Given the description of an element on the screen output the (x, y) to click on. 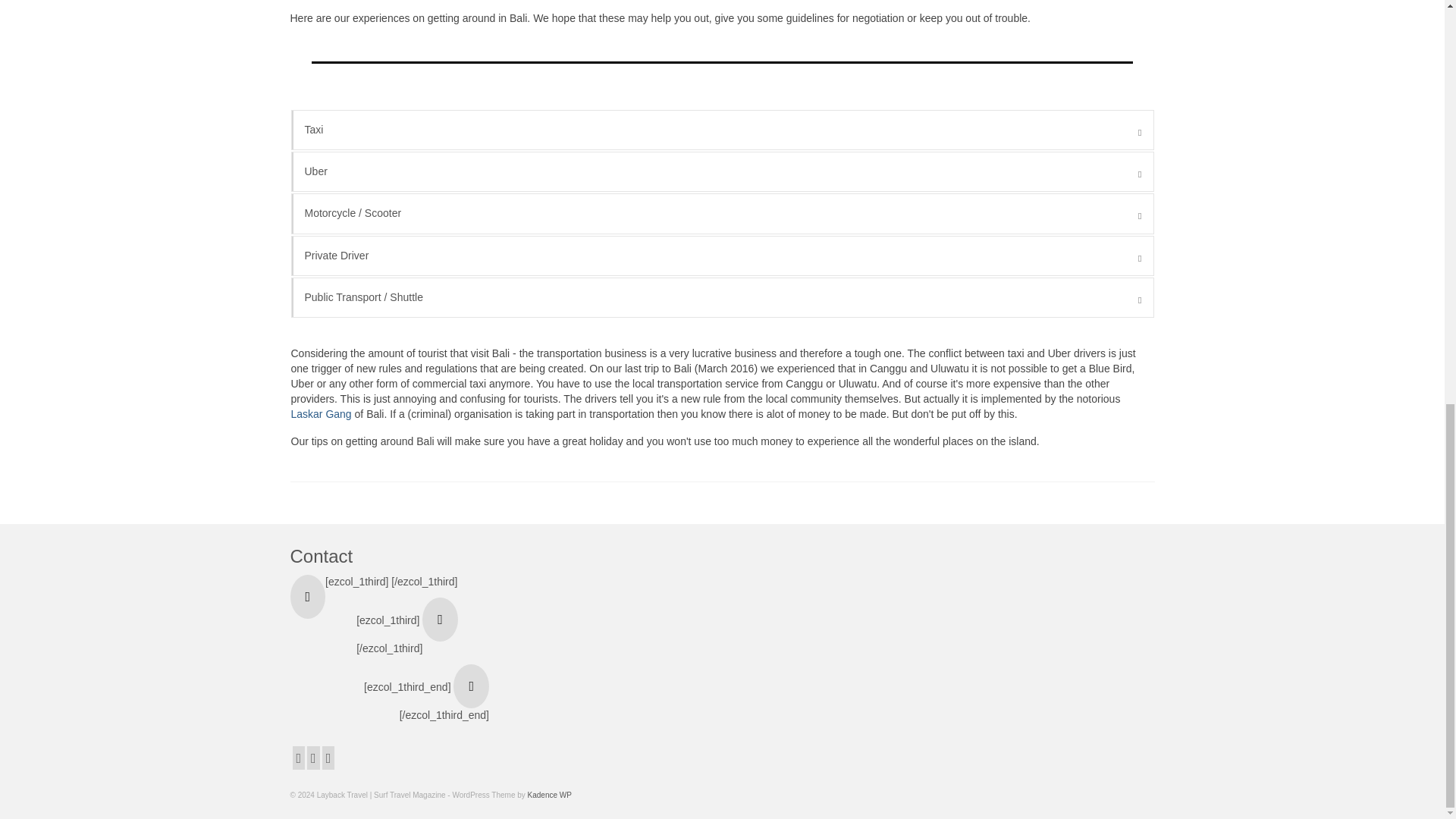
Laskar Gang (321, 413)
Uber (722, 171)
Private Driver (722, 255)
Kadence WP (549, 795)
Taxi (722, 129)
